Given the description of an element on the screen output the (x, y) to click on. 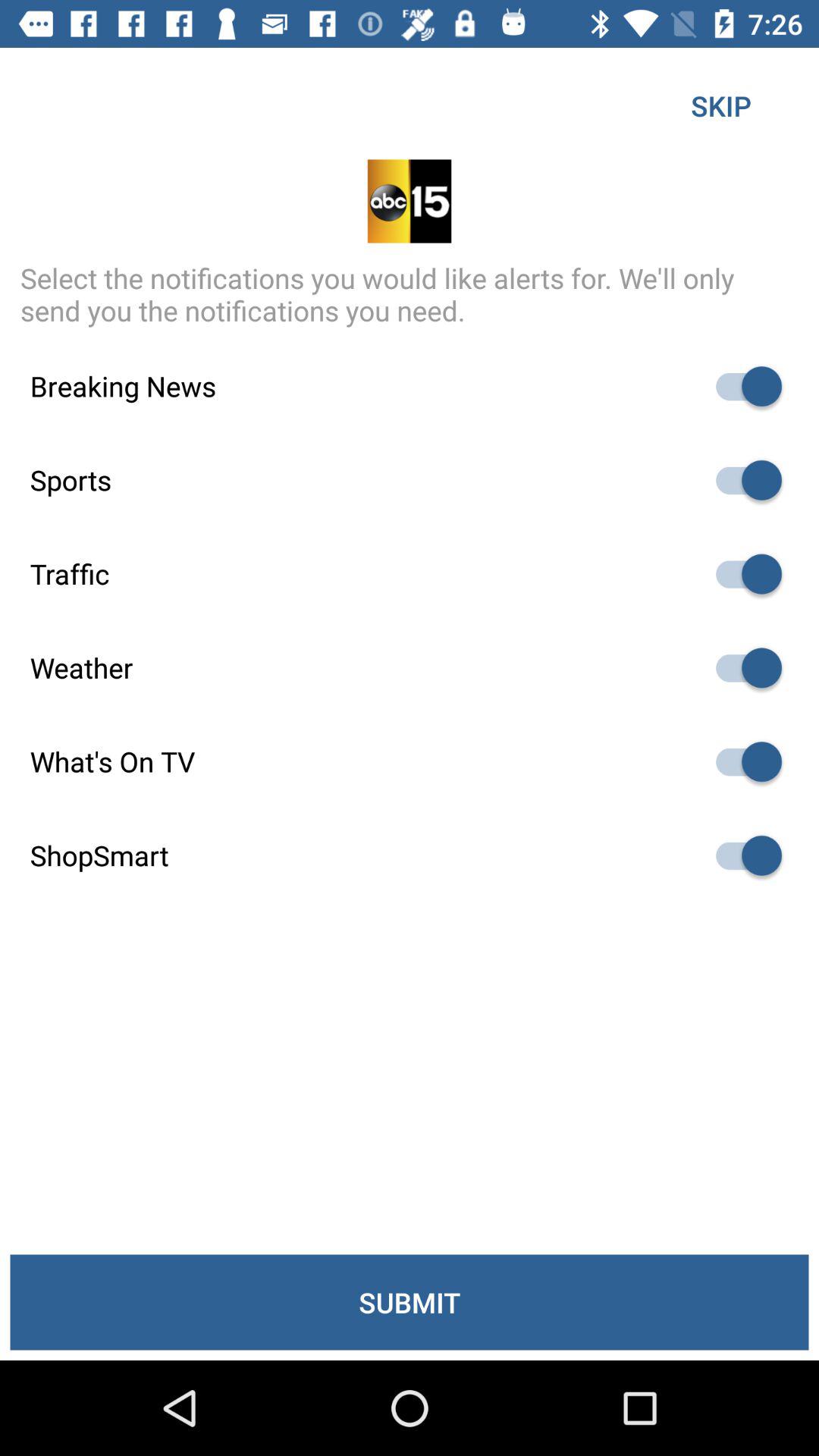
toggle sports option (741, 480)
